Given the description of an element on the screen output the (x, y) to click on. 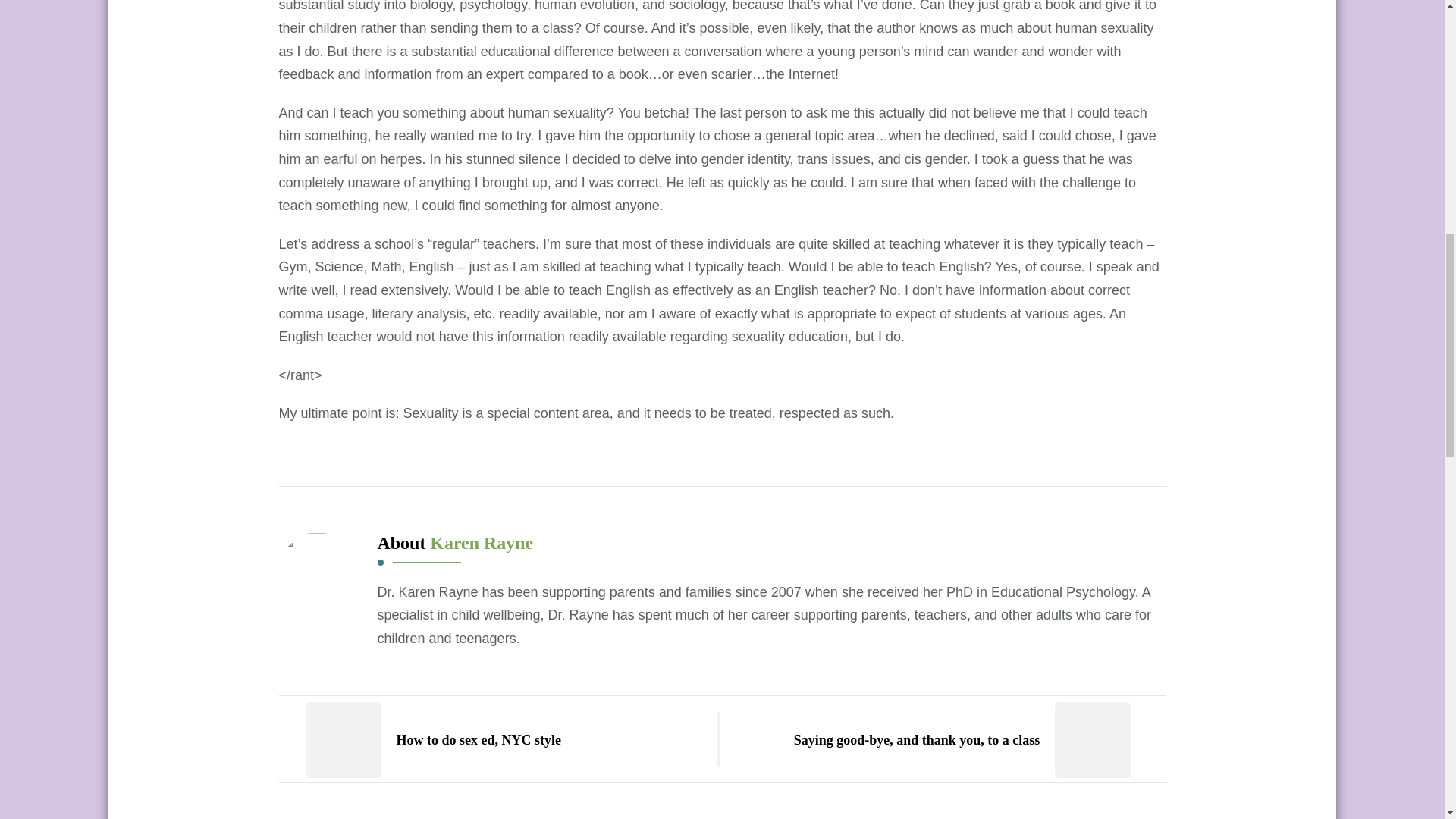
How to do sex ed, NYC style (420, 740)
Saying good-bye, and thank you, to a class (975, 740)
